Given the description of an element on the screen output the (x, y) to click on. 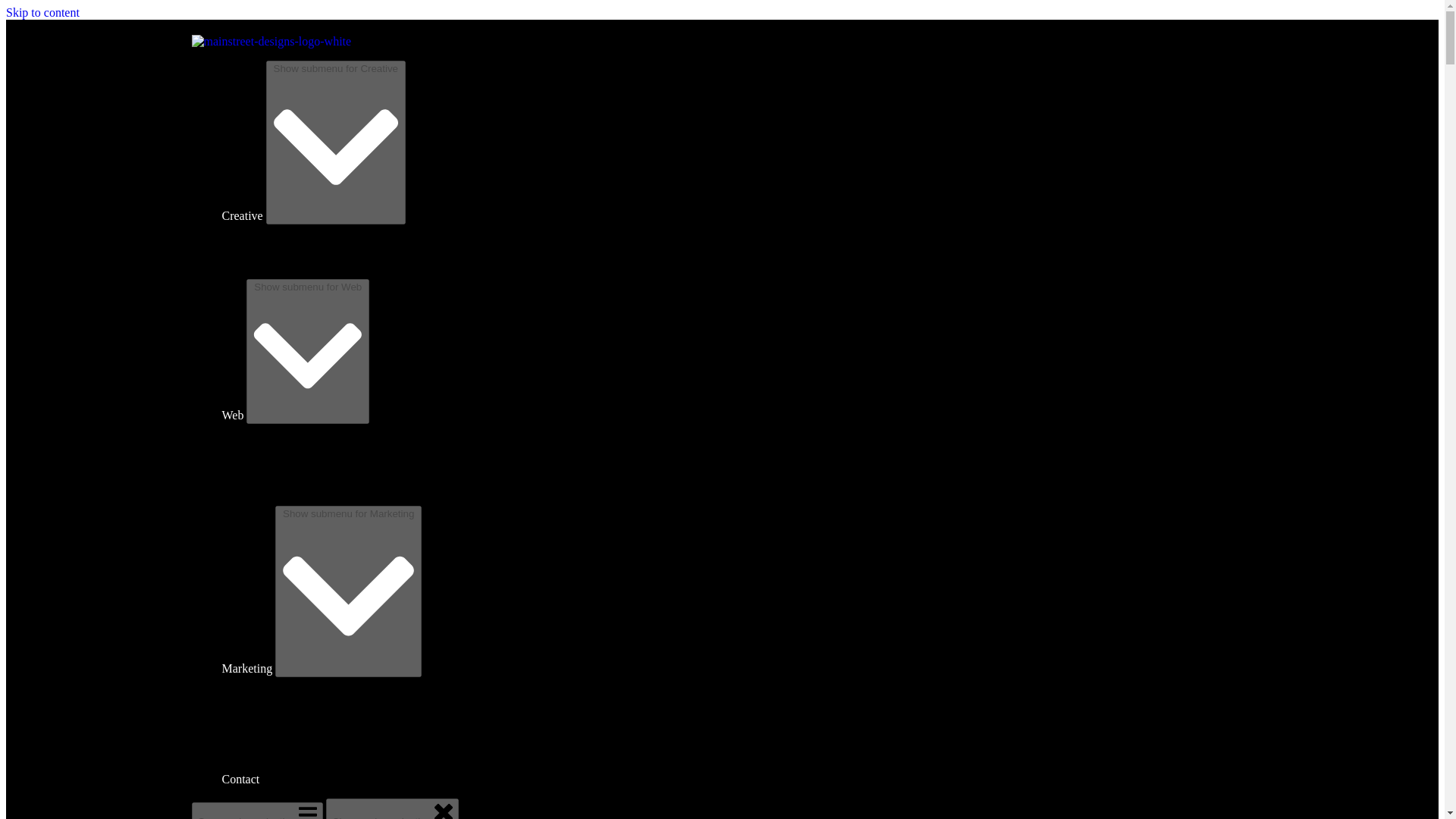
Social Media Management (316, 765)
Content Marketing (297, 738)
Technical SEO (287, 697)
Show submenu for Creative (336, 142)
Web (232, 414)
WordPress Maintenance Service (330, 471)
Contact (240, 779)
Responsive Web Design Services (332, 430)
Illustration Design Services (319, 271)
Marketing (246, 667)
Live Web Design (293, 484)
On-Page SEO (285, 710)
Close main navigation (392, 808)
SEO (263, 683)
Branding Design Services (314, 257)
